Given the description of an element on the screen output the (x, y) to click on. 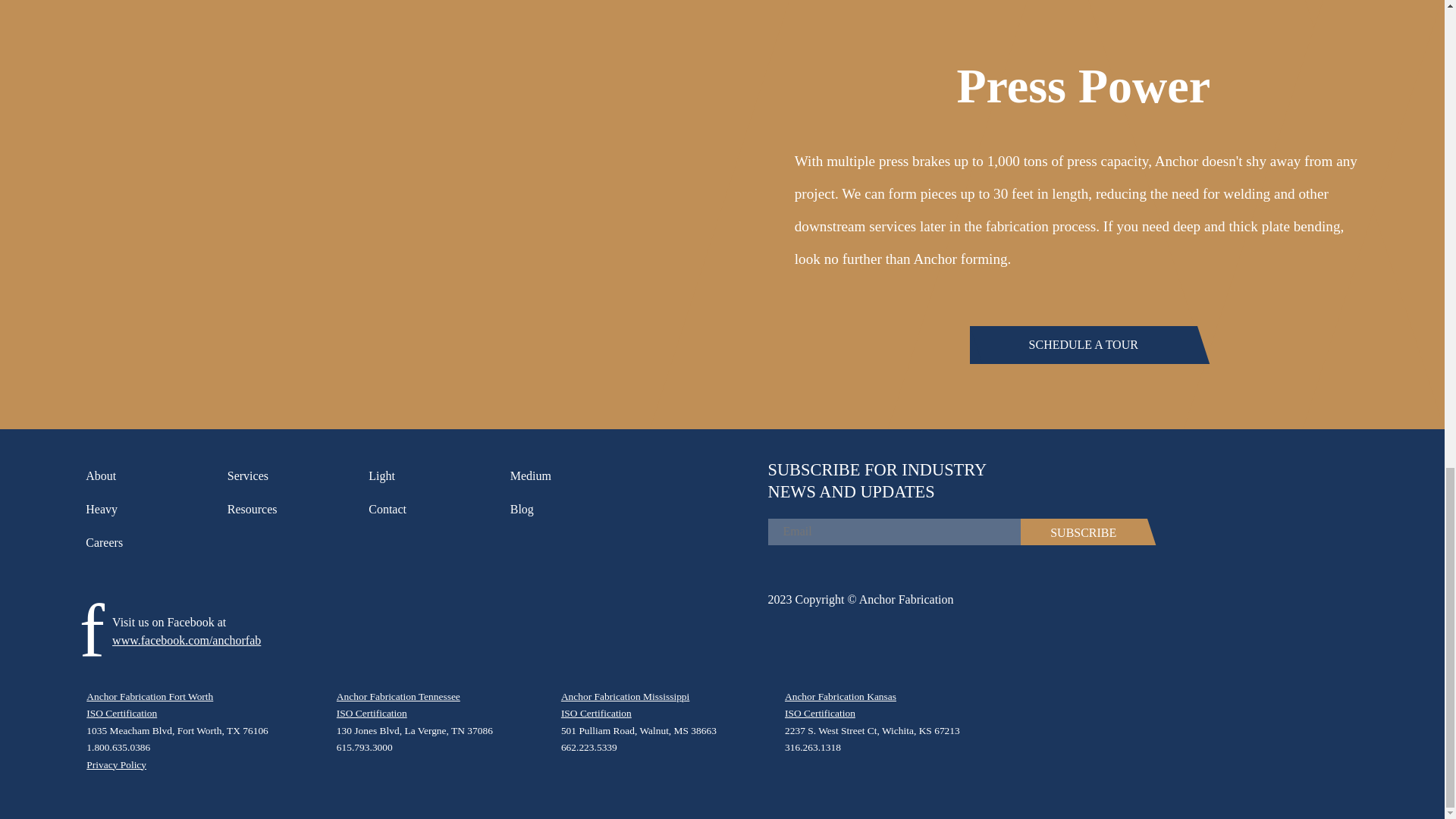
Heavy (148, 509)
SCHEDULE A TOUR (1082, 344)
About (148, 475)
Services (290, 475)
Light (431, 475)
Medium (574, 475)
REQUEST A CONSULTATION (375, 85)
